Given the description of an element on the screen output the (x, y) to click on. 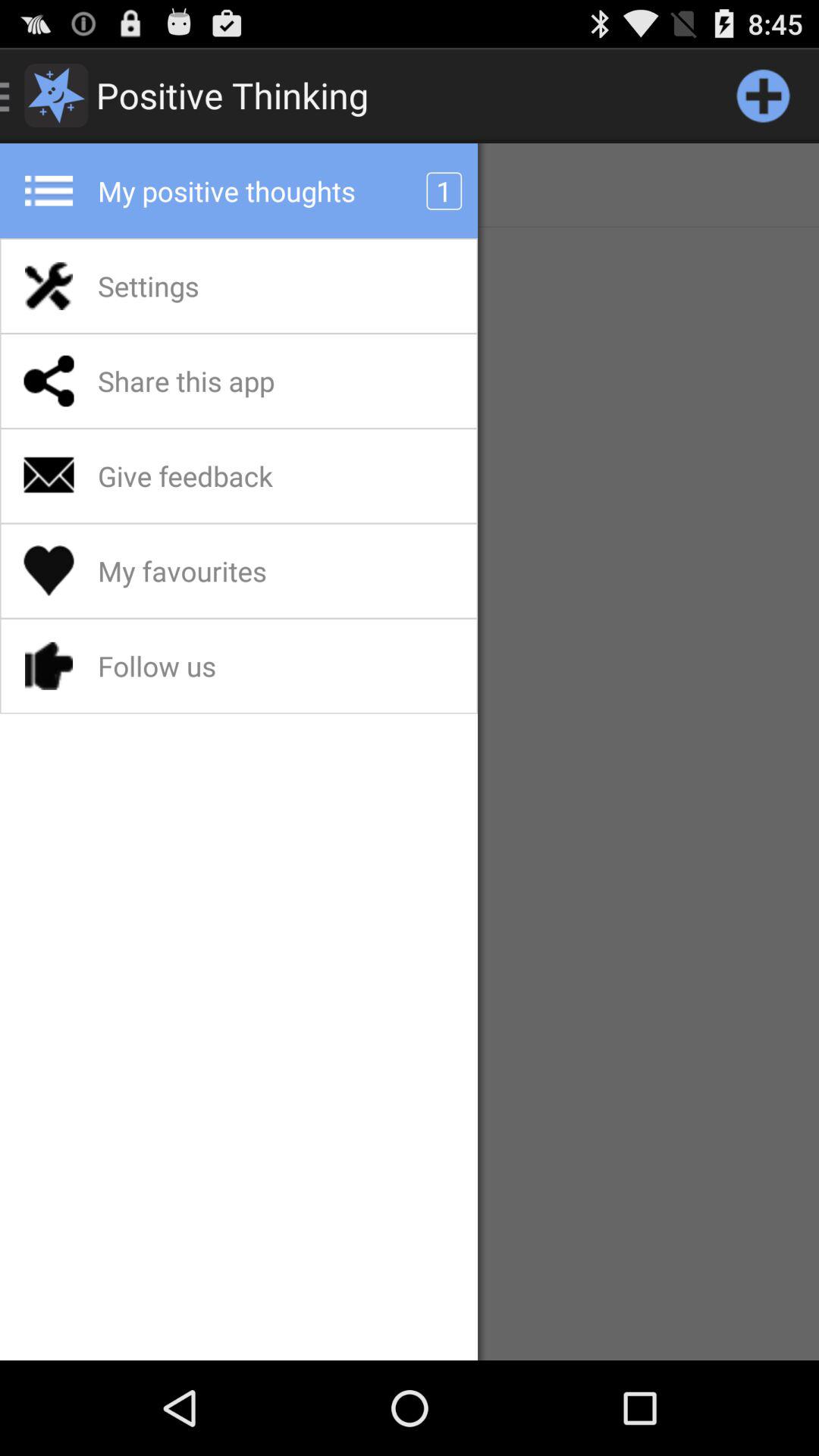
jump until the settings app (187, 285)
